Given the description of an element on the screen output the (x, y) to click on. 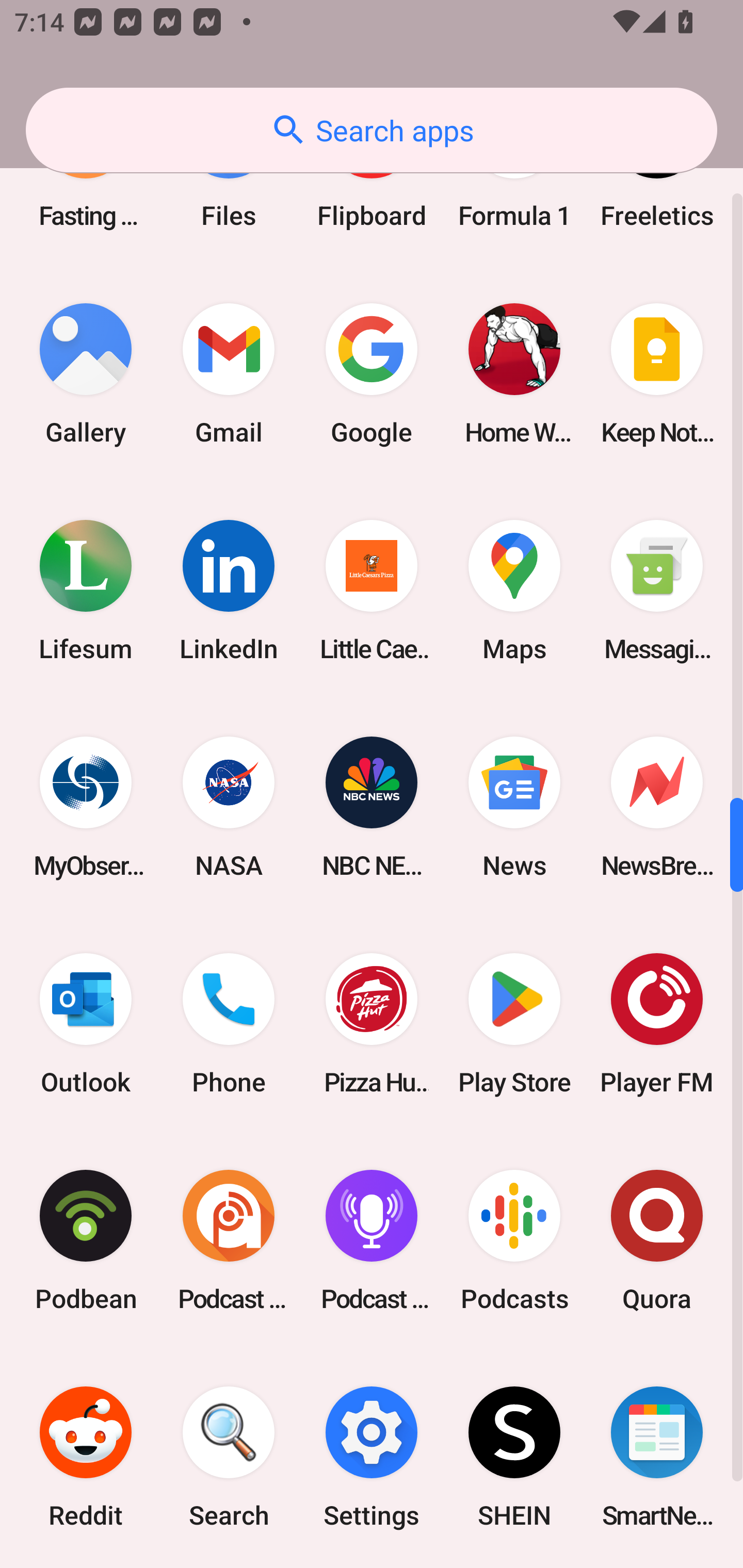
  Search apps (371, 130)
Gallery (85, 373)
Gmail (228, 373)
Google (371, 373)
Home Workout (514, 373)
Keep Notes (656, 373)
Lifesum (85, 590)
LinkedIn (228, 590)
Little Caesars Pizza (371, 590)
Maps (514, 590)
Messaging (656, 590)
MyObservatory (85, 807)
NASA (228, 807)
NBC NEWS (371, 807)
News (514, 807)
NewsBreak (656, 807)
Outlook (85, 1023)
Phone (228, 1023)
Pizza Hut HK & Macau (371, 1023)
Play Store (514, 1023)
Player FM (656, 1023)
Podbean (85, 1240)
Podcast Addict (228, 1240)
Podcast Player (371, 1240)
Podcasts (514, 1240)
Quora (656, 1240)
Reddit (85, 1456)
Search (228, 1456)
Settings (371, 1456)
SHEIN (514, 1456)
SmartNews (656, 1456)
Sofascore (85, 1566)
Spotify (228, 1566)
Superuser (371, 1566)
Tasks (514, 1566)
The Weather Channel (656, 1566)
